Given the description of an element on the screen output the (x, y) to click on. 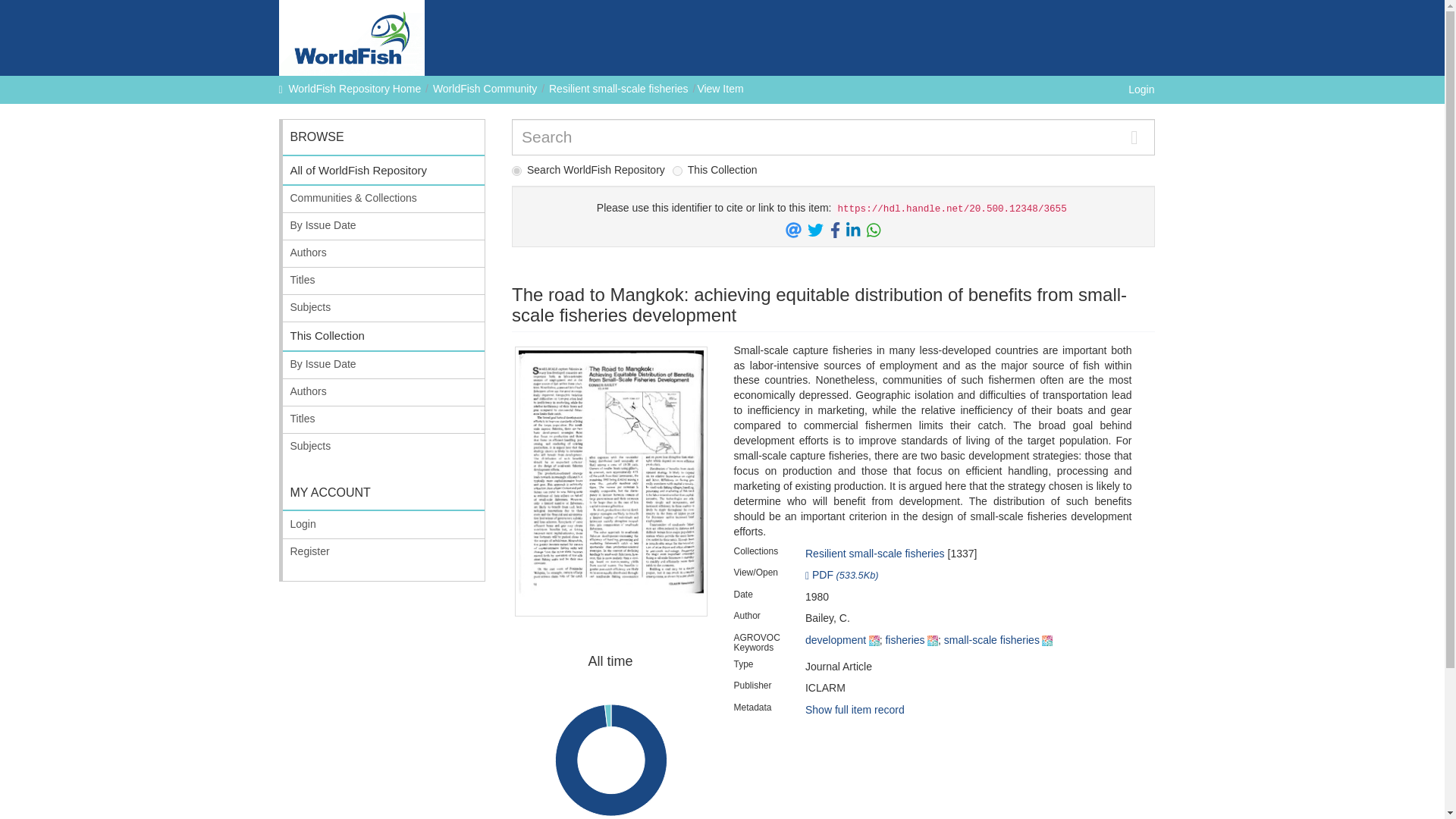
small-scale fisheries (991, 639)
Resilient small-scale fisheries (618, 88)
development (835, 639)
By Issue Date (383, 226)
fisheries (904, 639)
Go (1134, 136)
Show full item record (854, 709)
Authors (383, 253)
WorldFish Community (484, 88)
All of WorldFish Repository (383, 170)
Subjects (383, 308)
Resilient small-scale fisheries (874, 553)
Login (1135, 90)
Titles (383, 280)
